Given the description of an element on the screen output the (x, y) to click on. 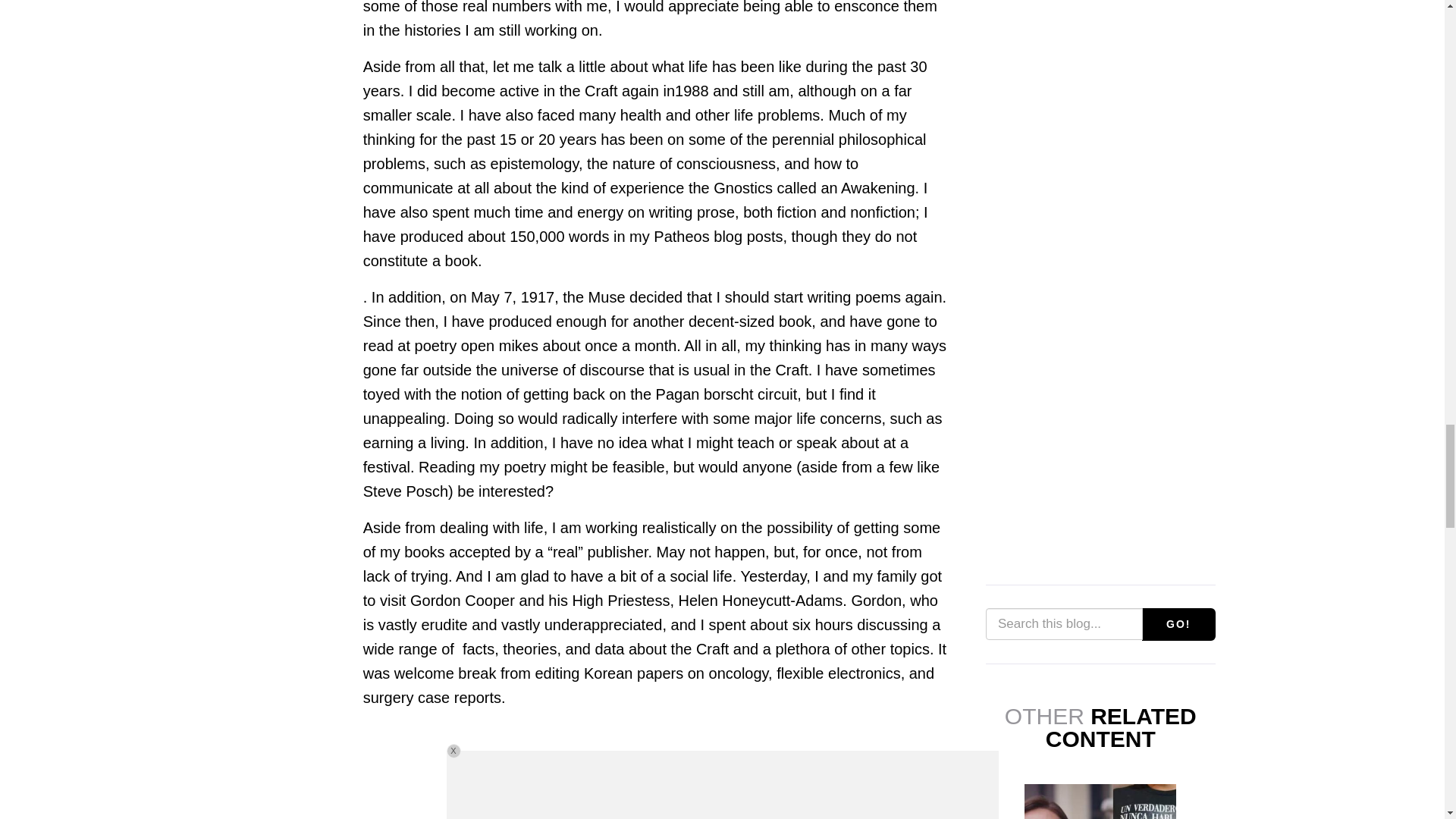
Go! (1177, 624)
